Given the description of an element on the screen output the (x, y) to click on. 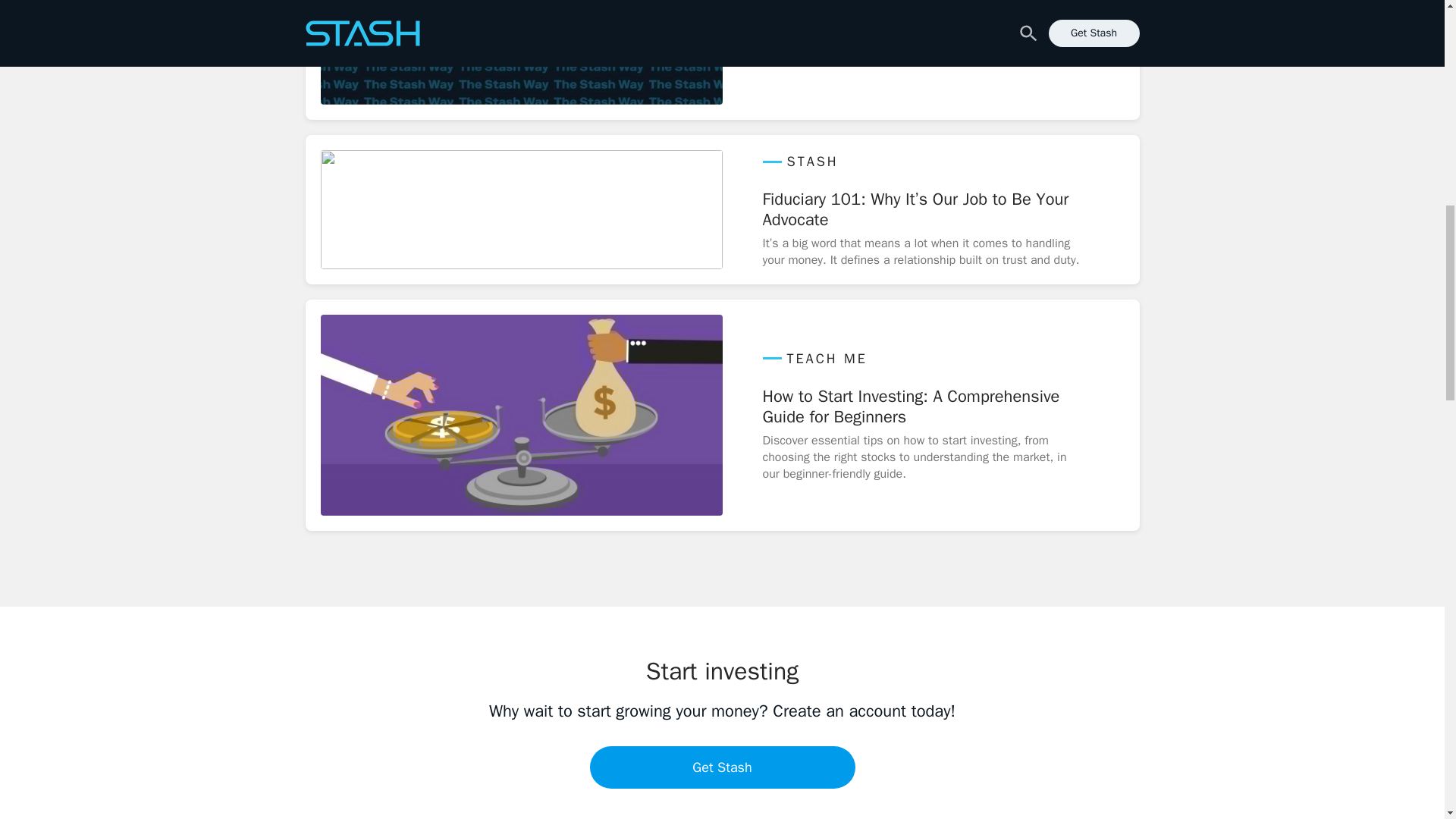
Get Stash (722, 52)
